Given the description of an element on the screen output the (x, y) to click on. 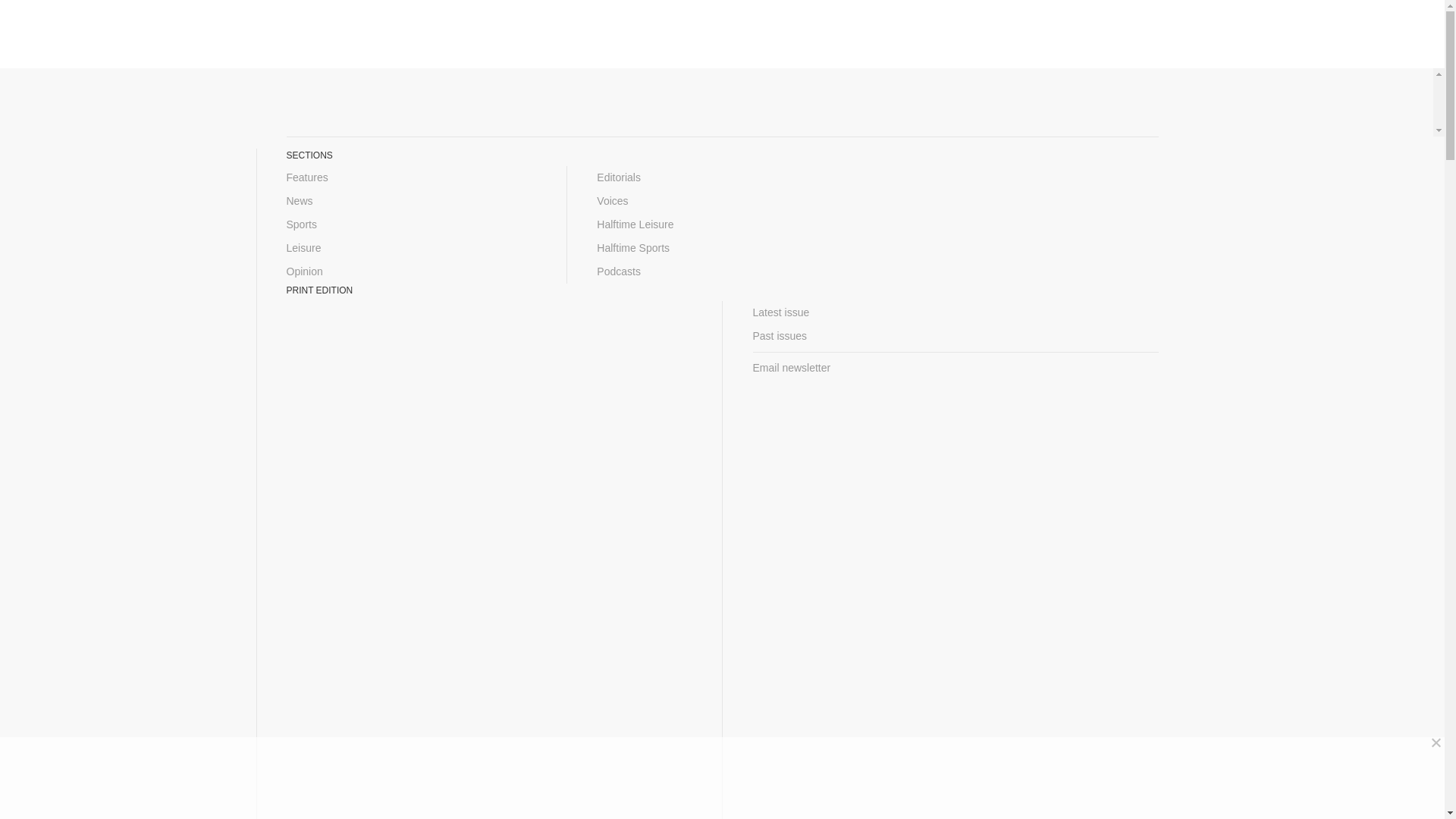
Opinion (411, 271)
Sports (411, 224)
Voices (721, 200)
Podcasts (721, 271)
Latest issue (954, 312)
Email newsletter (954, 368)
Past issues (954, 336)
Posts by Maya Knepp (472, 310)
Editorials (721, 177)
News (411, 200)
